Given the description of an element on the screen output the (x, y) to click on. 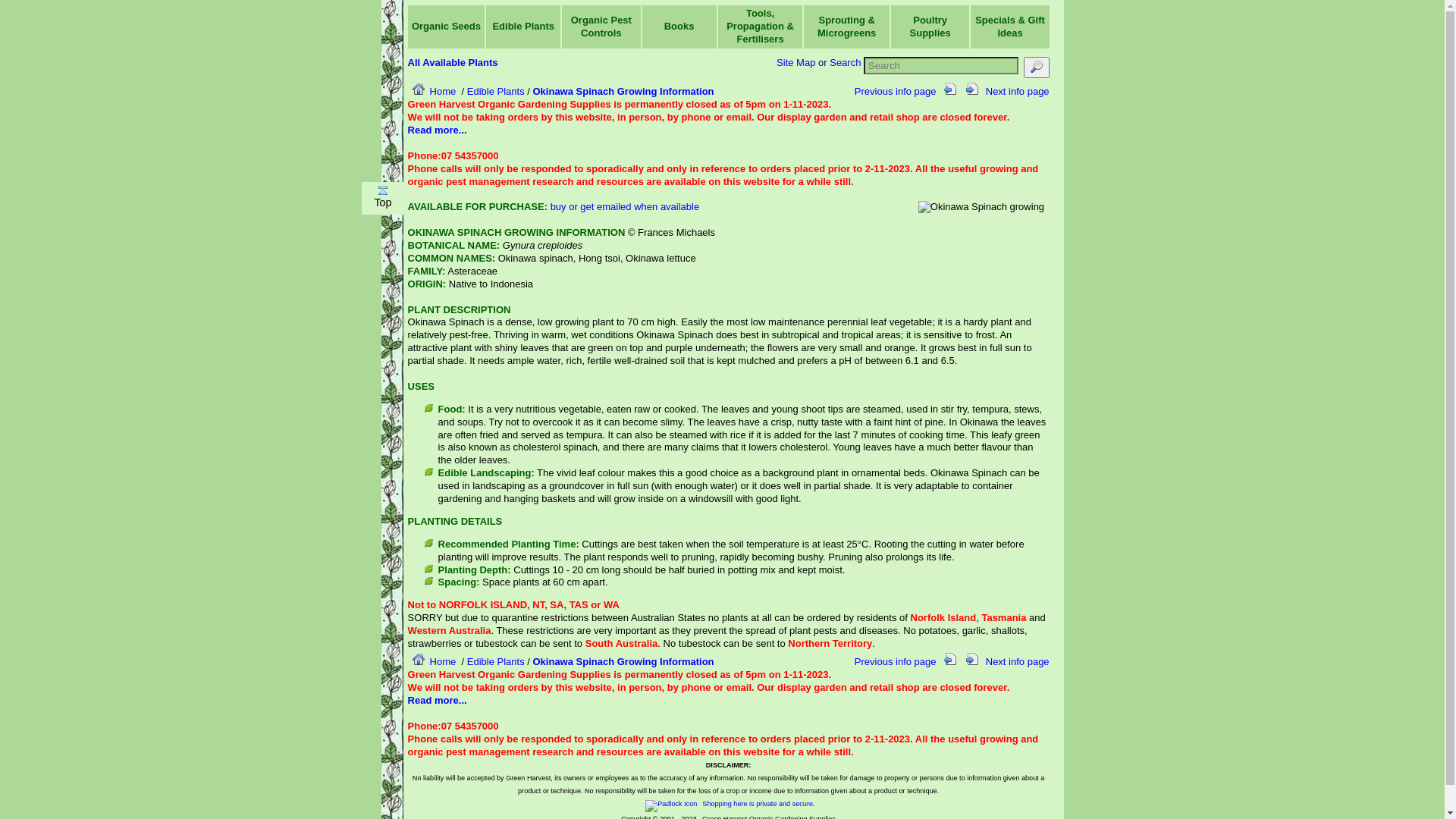
Site Map Element type: text (795, 62)
Read more... Element type: text (437, 129)
Edible Plants Element type: text (495, 661)
Okinawa Spinach growing Element type: hover (981, 206)
search Element type: text (1035, 67)
Sprouting & Microgreens Element type: text (846, 26)
Top Element type: text (382, 197)
Edible Plants Element type: text (495, 91)
Organic Seeds Element type: text (445, 25)
Magnifier Icon Element type: hover (1036, 66)
Home Element type: text (431, 91)
All Available Plants Element type: text (452, 62)
Poultry Supplies Element type: text (930, 26)
Books Element type: text (679, 25)
Specials & Gift Ideas Element type: text (1009, 26)
Edible Plants Element type: text (523, 25)
Previous info page Element type: text (907, 91)
Previous info page Element type: text (907, 661)
Organic Pest Controls Element type: text (601, 26)
confirm Element type: text (24, 293)
Tools, Propagation & Fertilisers Element type: text (759, 25)
buy or get emailed when available Element type: text (624, 206)
Read more... Element type: text (437, 700)
Scroll Up Icon Element type: hover (382, 190)
Next info page Element type: text (1004, 91)
Search Element type: text (844, 62)
Home Element type: text (431, 661)
Shopping here is private and secure. Element type: text (728, 803)
Padlock Icon Element type: hover (670, 806)
Next info page Element type: text (1004, 661)
